Given the description of an element on the screen output the (x, y) to click on. 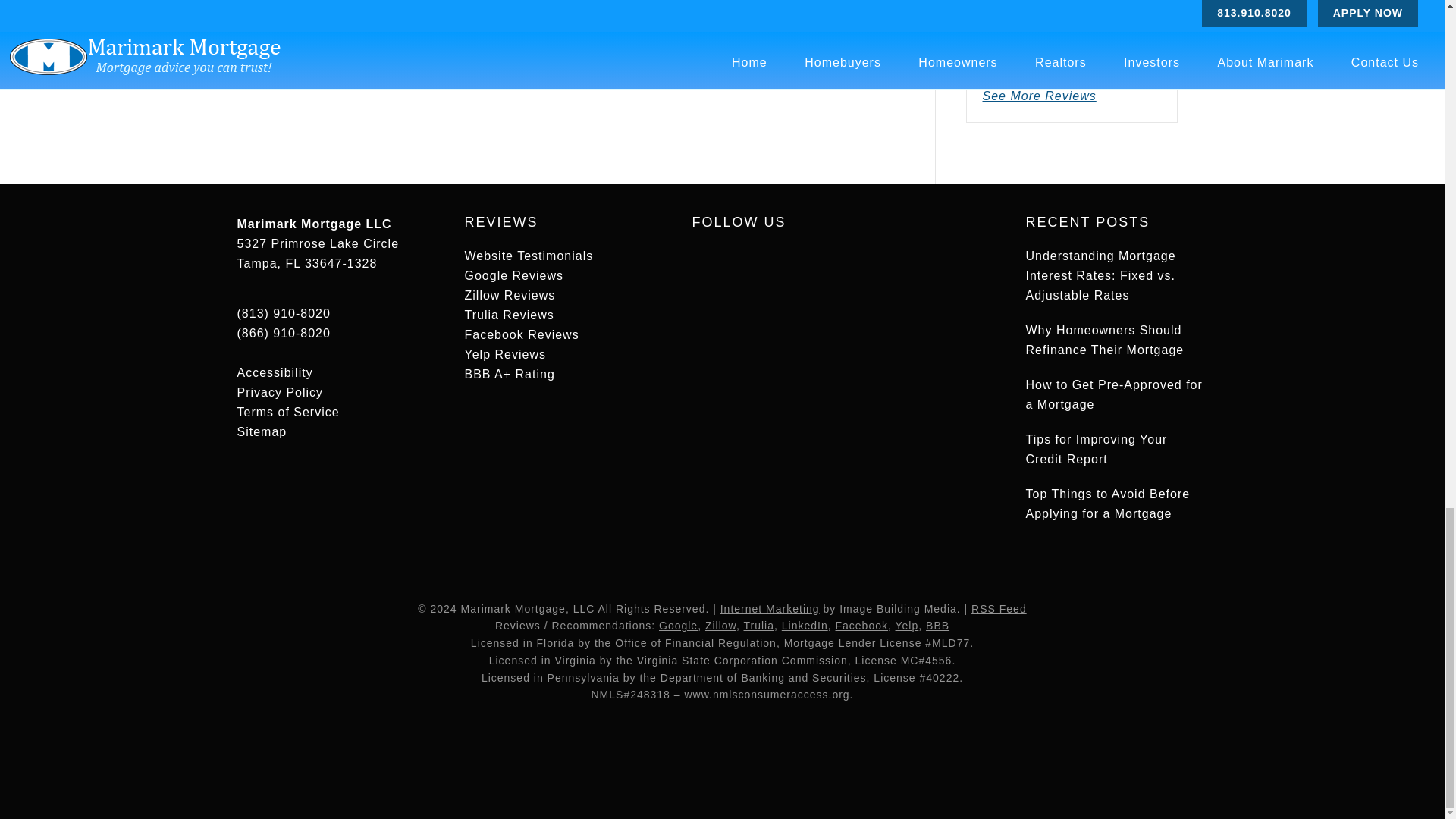
Accessibility (274, 372)
Call Us (282, 332)
Website Testimonials (528, 255)
Zillow Reviews of Marimark Mortgage (509, 295)
Privacy Policy (279, 391)
Sitemap (260, 431)
Terms of Service (287, 411)
Sitemap (260, 431)
Terms of Service (287, 411)
Accessibility (274, 372)
